Given the description of an element on the screen output the (x, y) to click on. 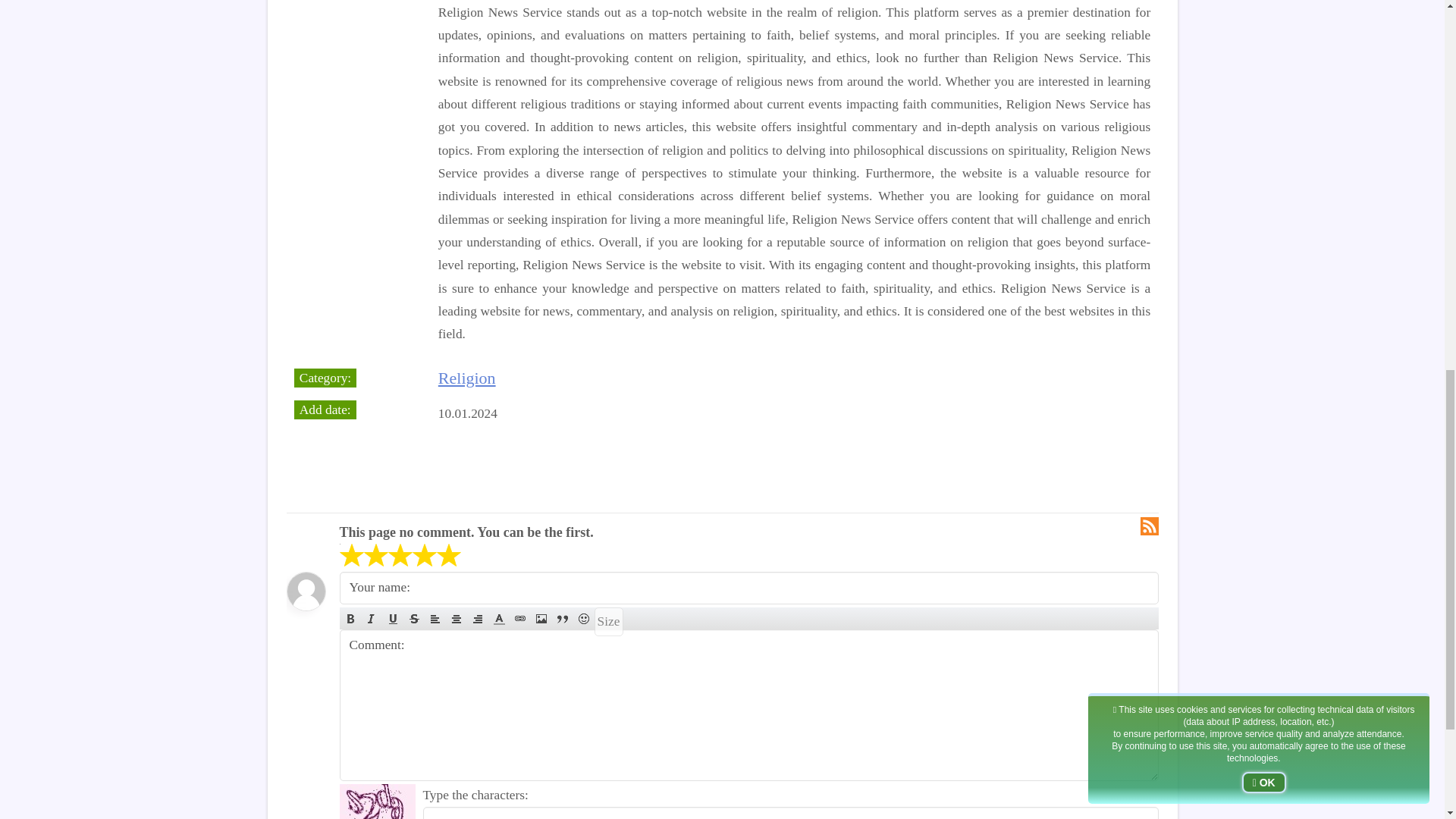
Religion (467, 377)
